Given the description of an element on the screen output the (x, y) to click on. 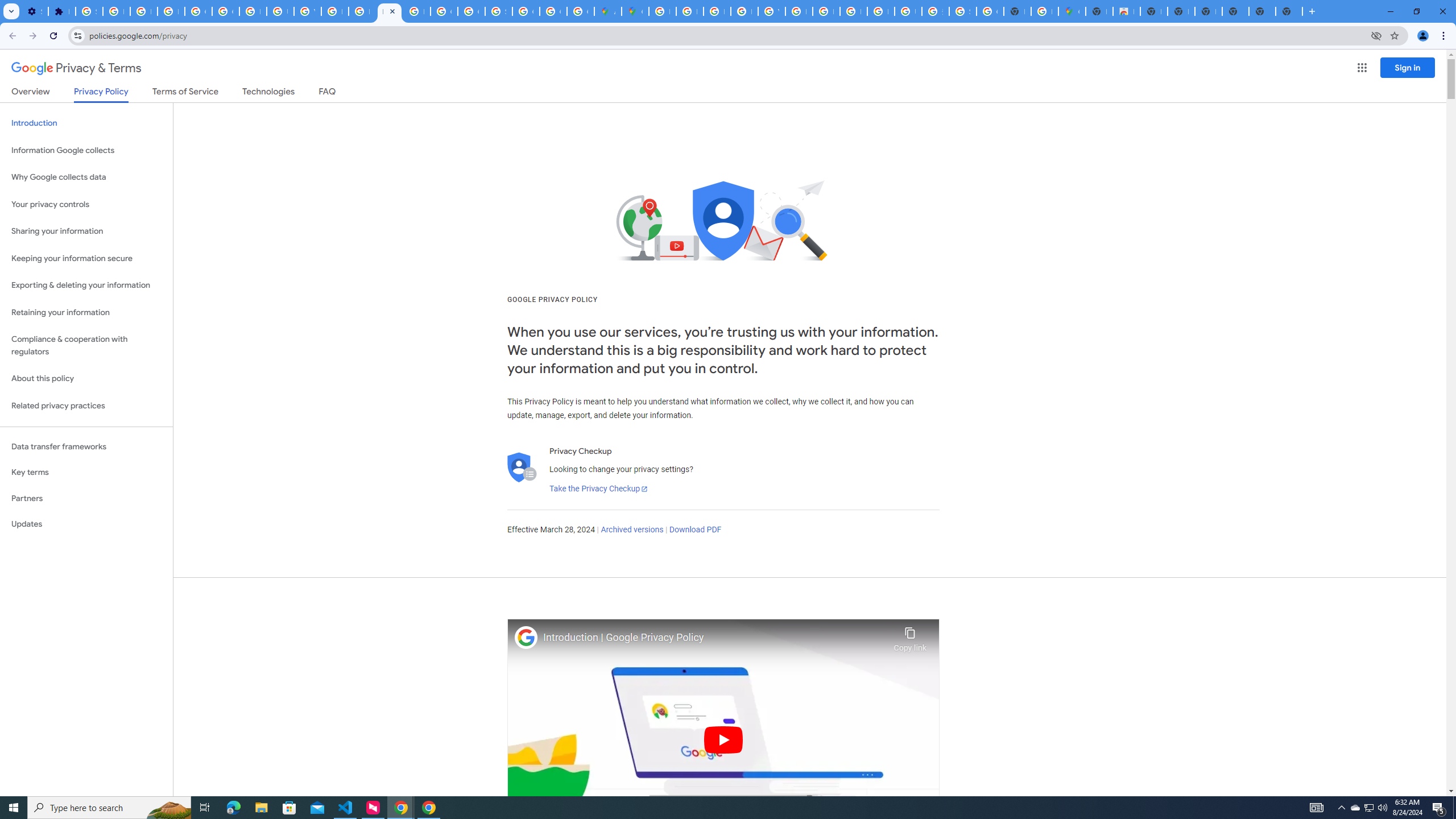
Google Maps (634, 11)
Google Account Help (197, 11)
Take the Privacy Checkup (597, 488)
Why Google collects data (86, 176)
https://scholar.google.com/ (334, 11)
Create your Google Account (580, 11)
New Tab (1289, 11)
Information Google collects (86, 150)
